Given the description of an element on the screen output the (x, y) to click on. 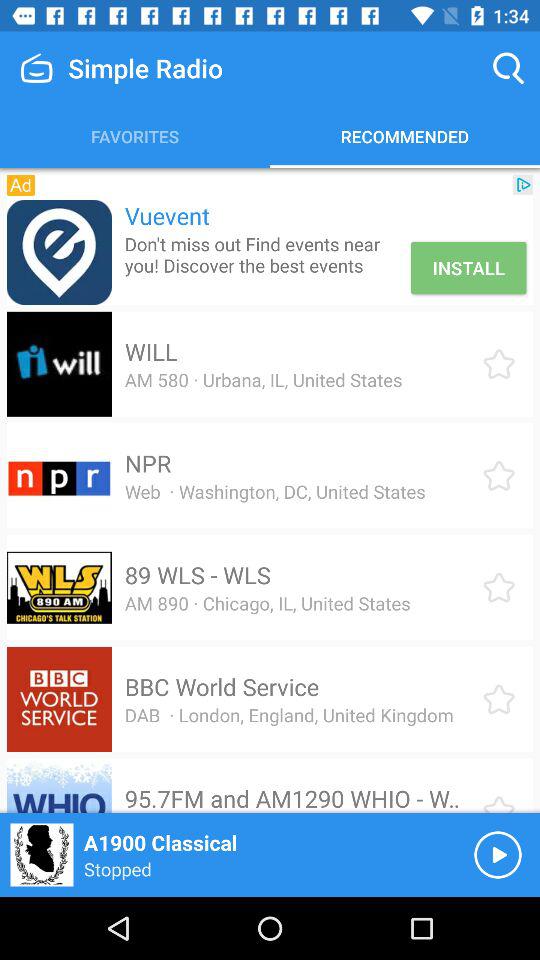
scroll to the web washington dc item (274, 491)
